Given the description of an element on the screen output the (x, y) to click on. 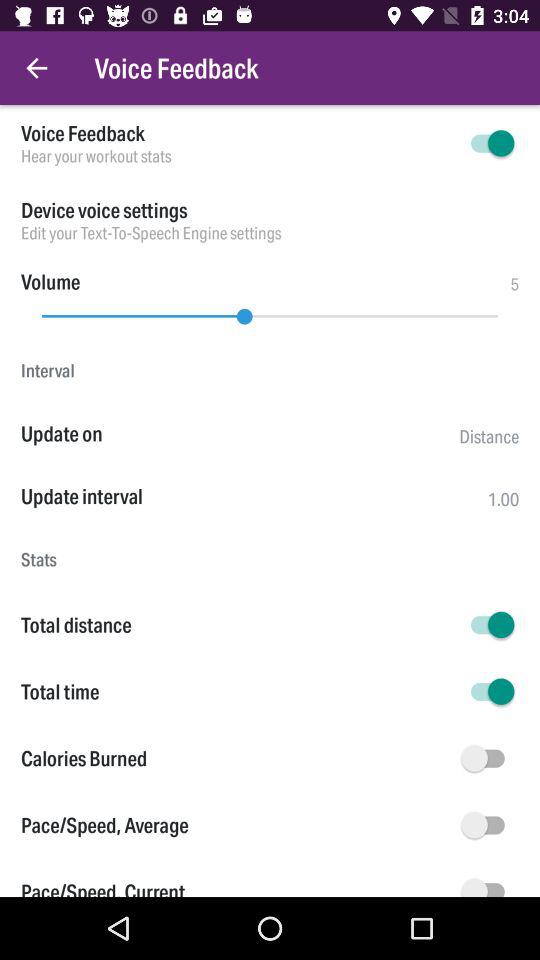
turn on icon below voice feedback icon (238, 155)
